Given the description of an element on the screen output the (x, y) to click on. 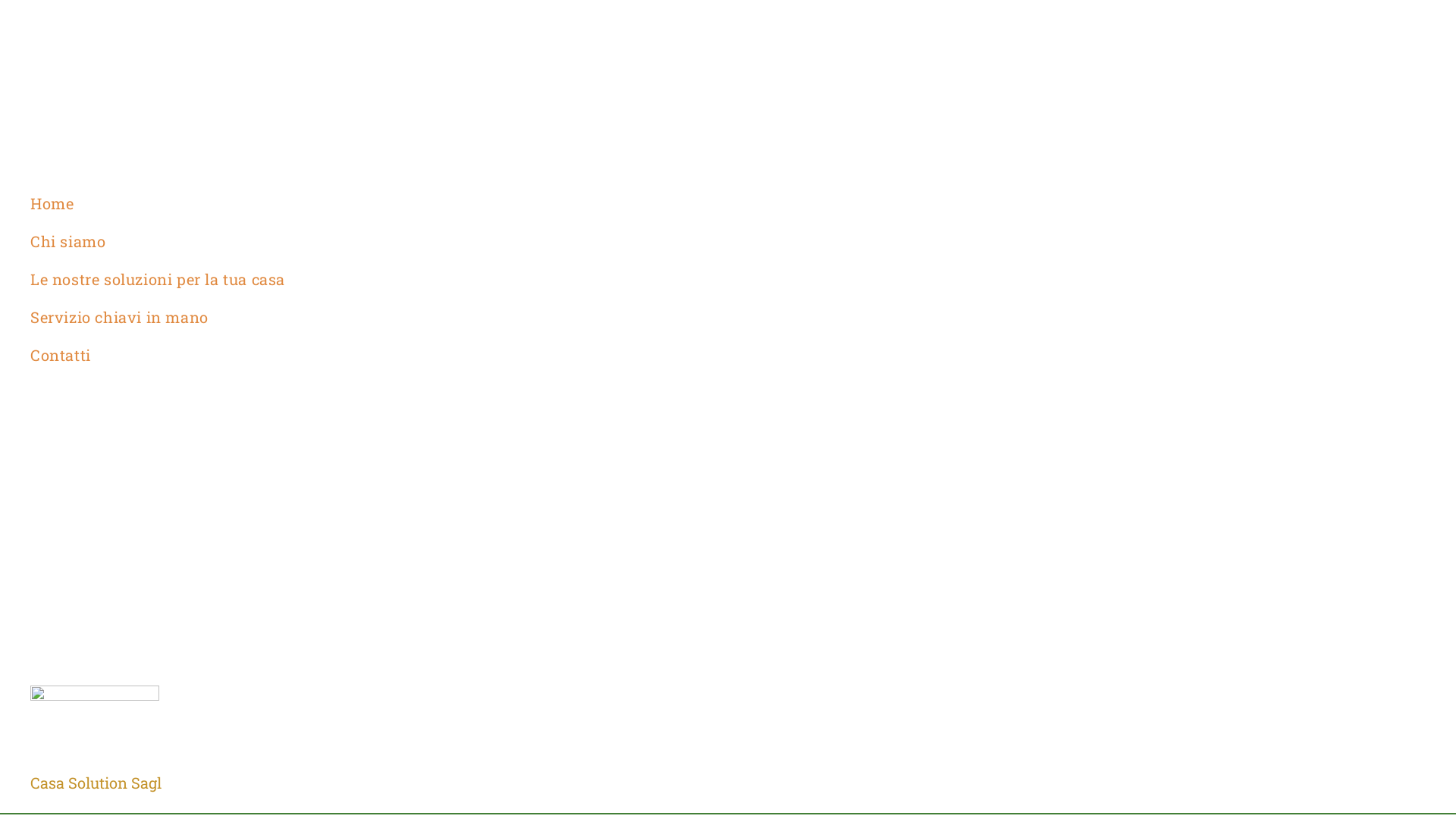
Servizio chiavi in mano Element type: text (386, 316)
Casa Solution Element type: text (78, 782)
Le nostre soluzioni per la tua casa Element type: text (386, 279)
Chi siamo Element type: text (386, 241)
Contatti Element type: text (386, 354)
Home Element type: text (386, 203)
